Given the description of an element on the screen output the (x, y) to click on. 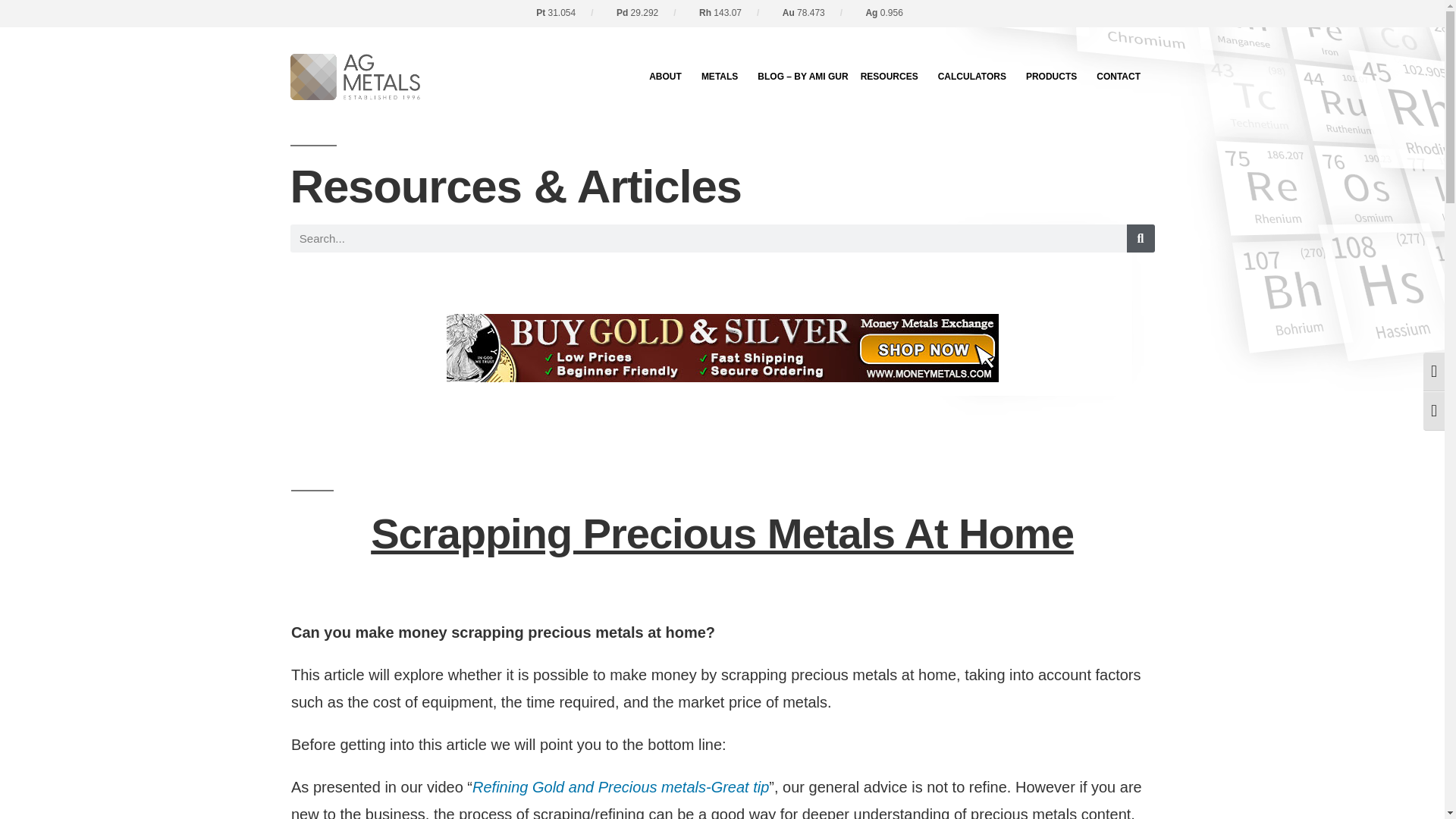
CALCULATORS (975, 76)
RESOURCES (892, 76)
ABOUT (669, 76)
PRODUCTS (1055, 76)
METALS (723, 76)
